Given the description of an element on the screen output the (x, y) to click on. 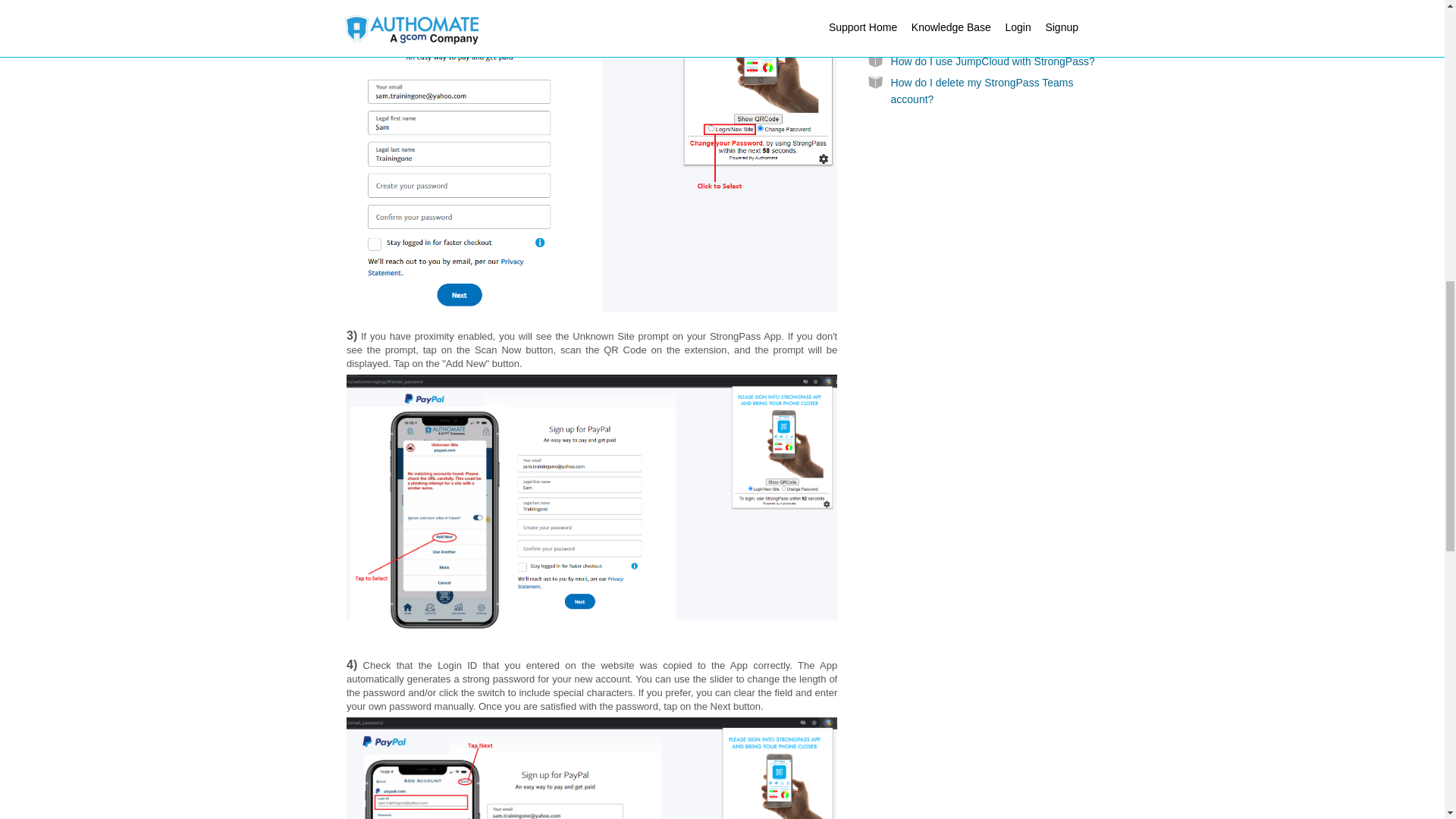
How do I delete my StrongPass Teams account? (982, 90)
How do I change my Mac password with StrongPass? (986, 32)
How do I unlock my Mac with StrongPass Mac Logon? (988, 4)
How do I use JumpCloud with StrongPass? (992, 61)
